Given the description of an element on the screen output the (x, y) to click on. 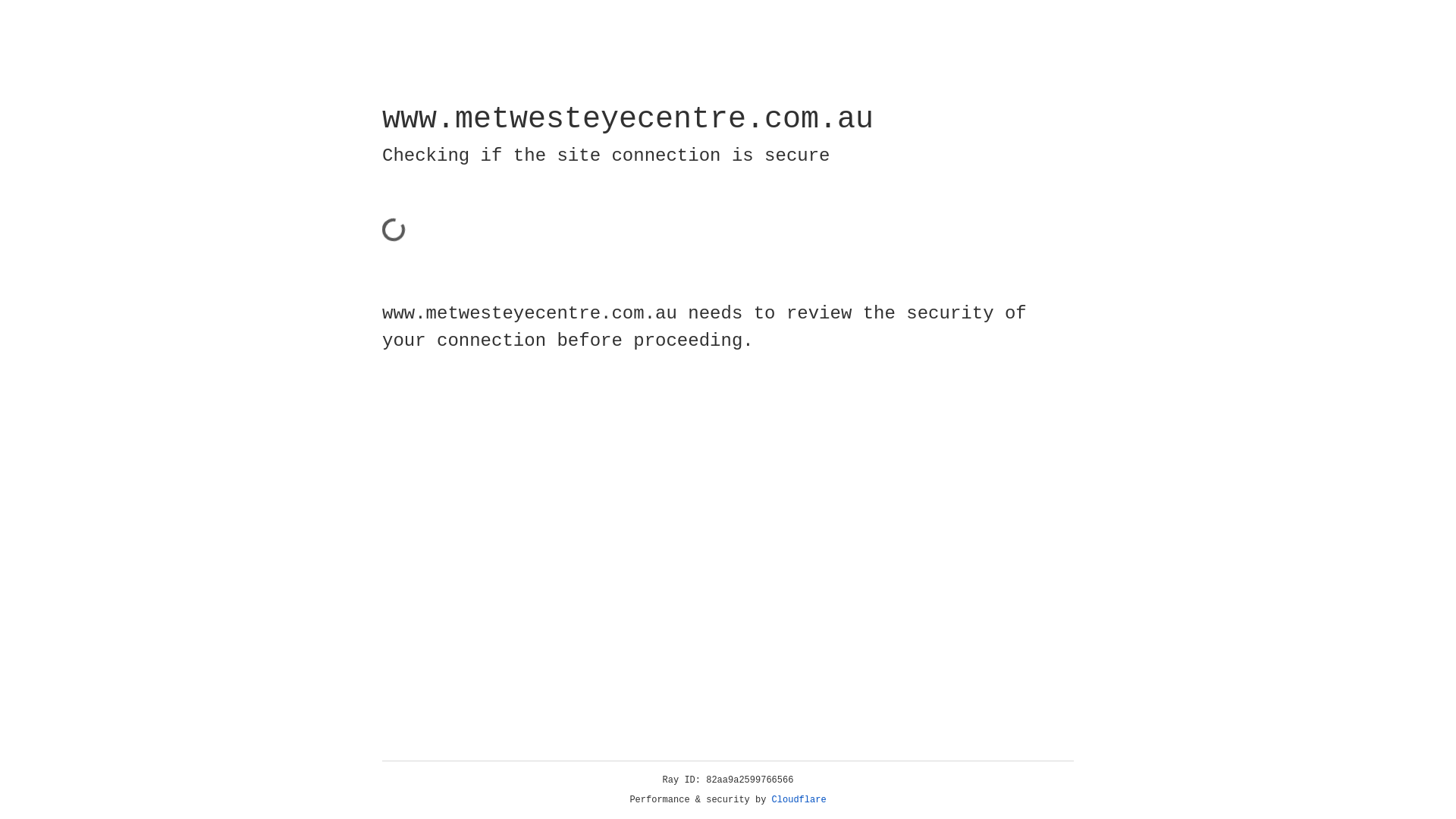
Cloudflare Element type: text (798, 799)
